Given the description of an element on the screen output the (x, y) to click on. 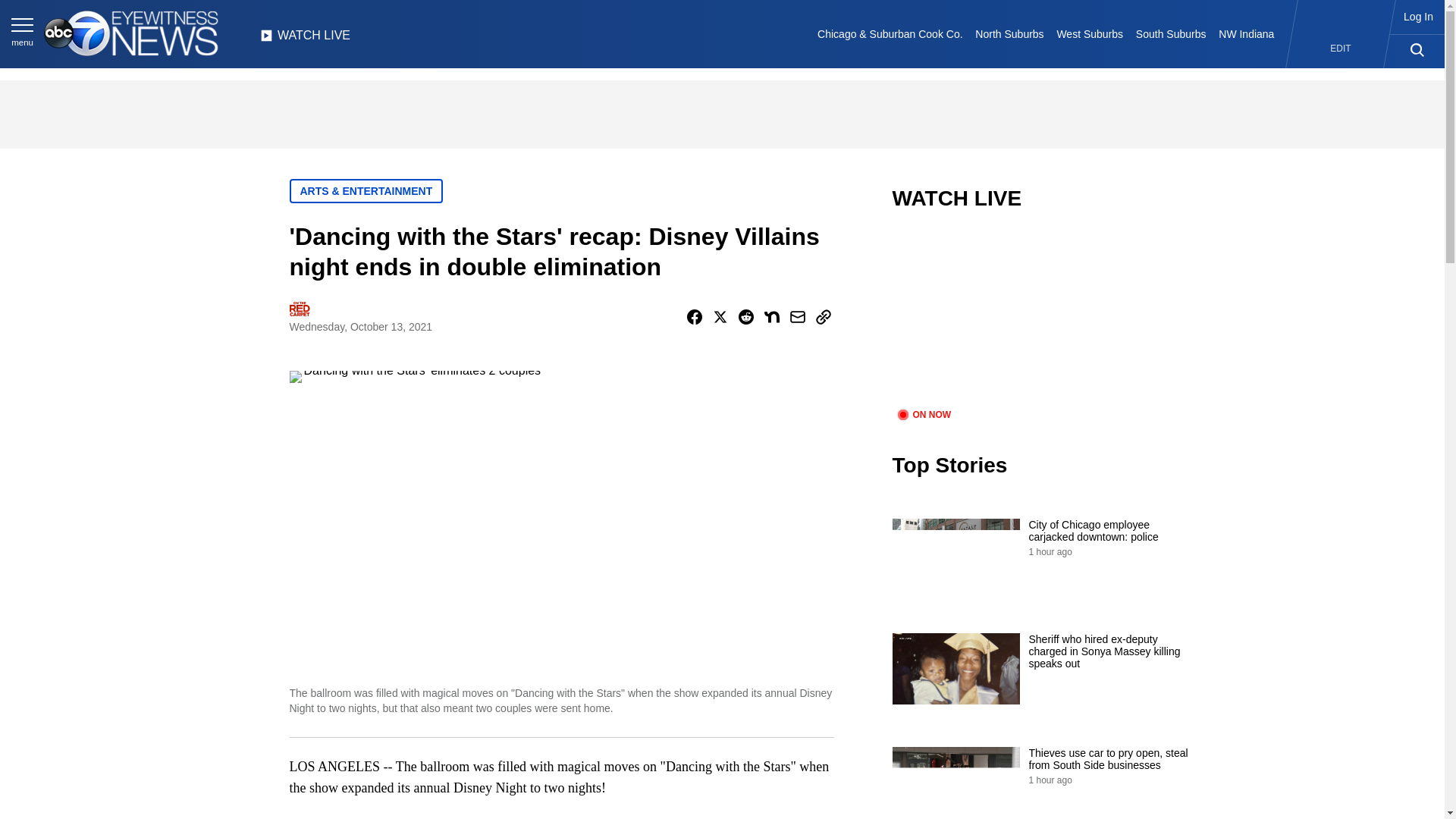
South Suburbs (1170, 33)
WATCH LIVE (305, 39)
West Suburbs (1089, 33)
EDIT (1340, 48)
NW Indiana (1246, 33)
video.title (1043, 318)
North Suburbs (1009, 33)
